Given the description of an element on the screen output the (x, y) to click on. 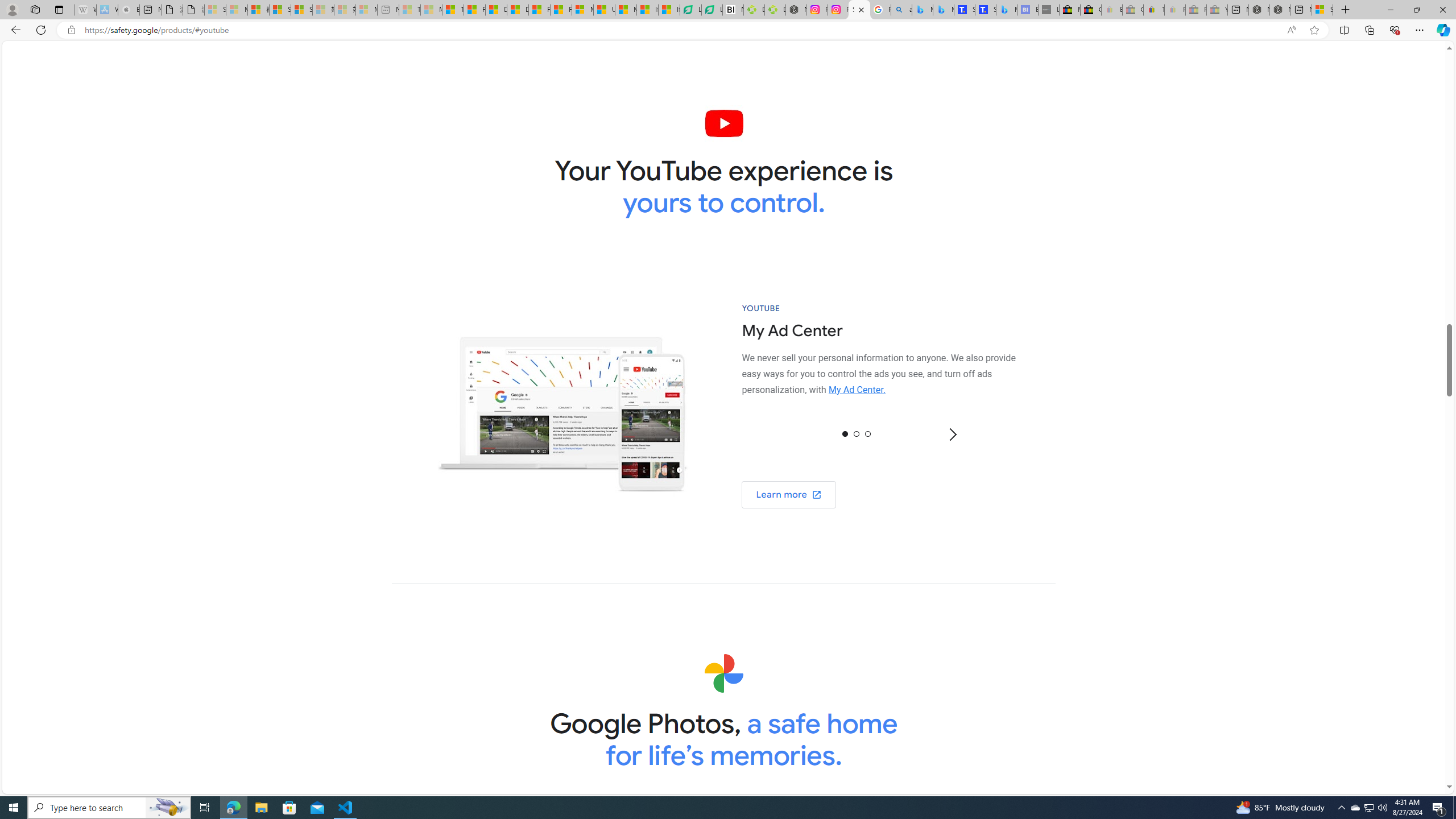
Payments Terms of Use | eBay.com - Sleeping (1174, 9)
Marine life - MSN - Sleeping (431, 9)
Press Room - eBay Inc. - Sleeping (1195, 9)
Foo BAR | Trusted Community Engagement and Contributions (561, 9)
My Ad Center. (857, 389)
